Given the description of an element on the screen output the (x, y) to click on. 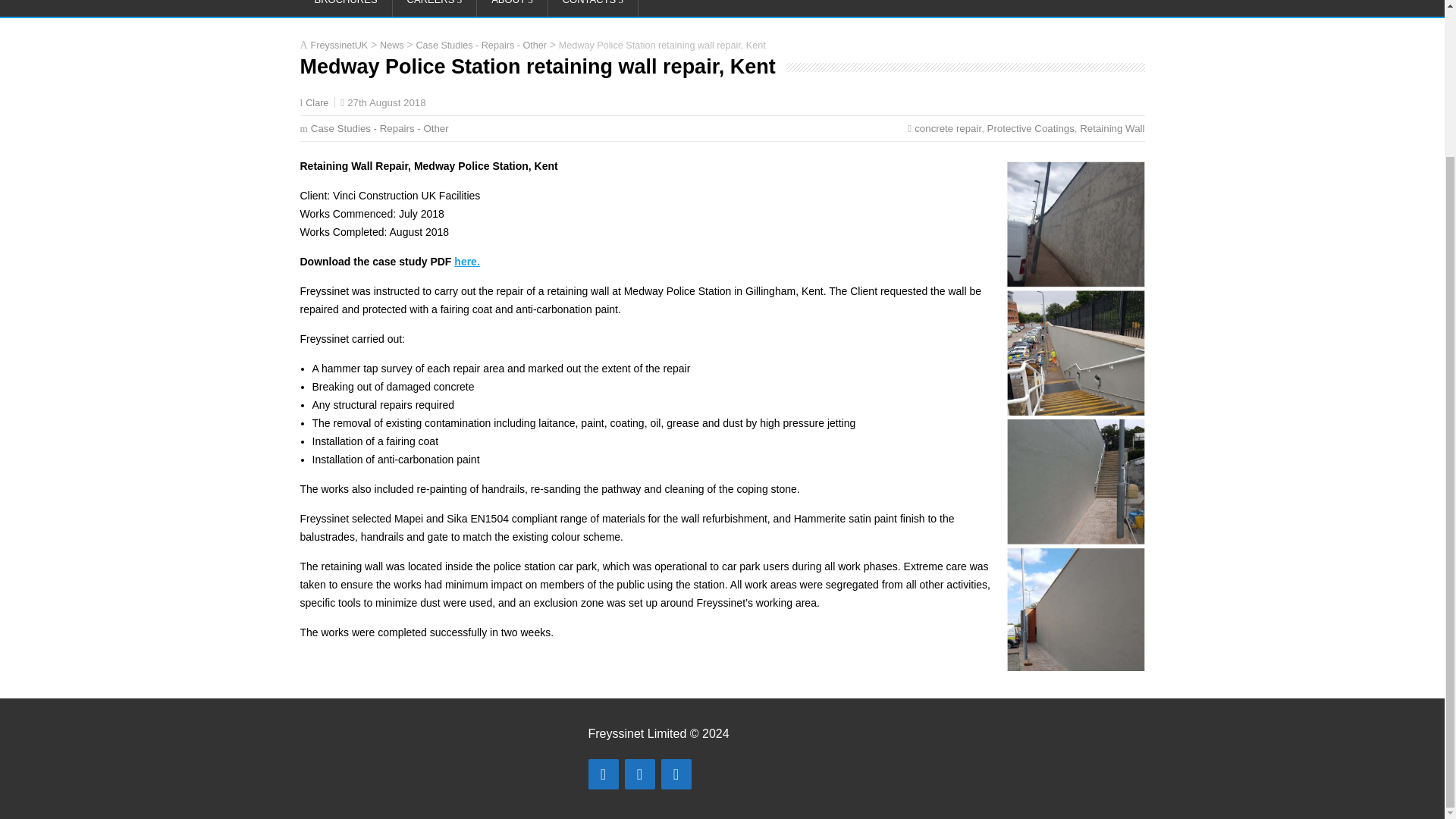
BROCHURES (346, 8)
LinkedIn (676, 774)
Go to the Case Studies - Repairs - Other Category archives. (480, 44)
Go to News. (392, 44)
Posts by Clare (317, 102)
Go to FreyssinetUK. (339, 44)
YouTube (639, 774)
Twitter (603, 774)
